Given the description of an element on the screen output the (x, y) to click on. 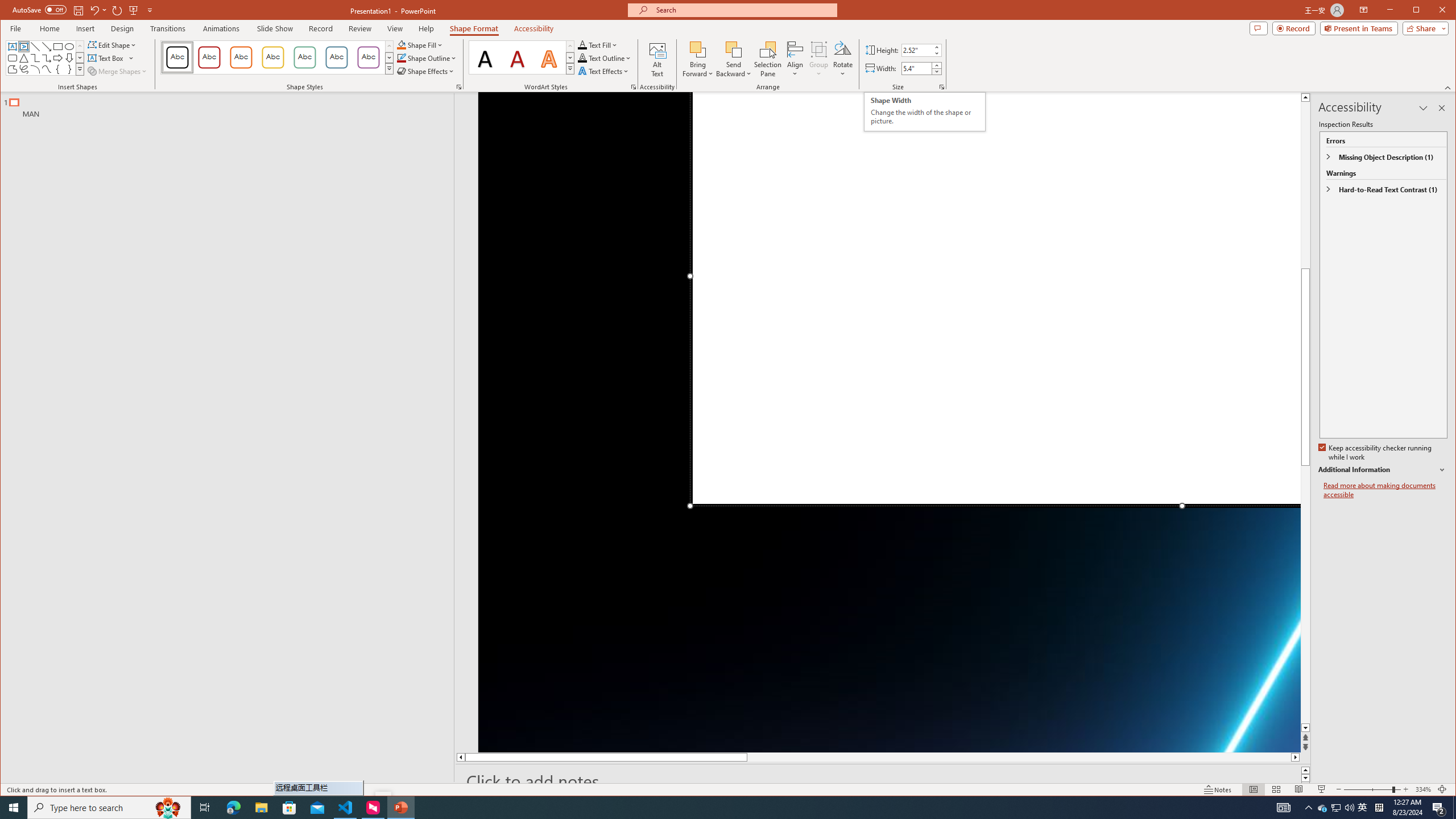
Align (794, 59)
